Given the description of an element on the screen output the (x, y) to click on. 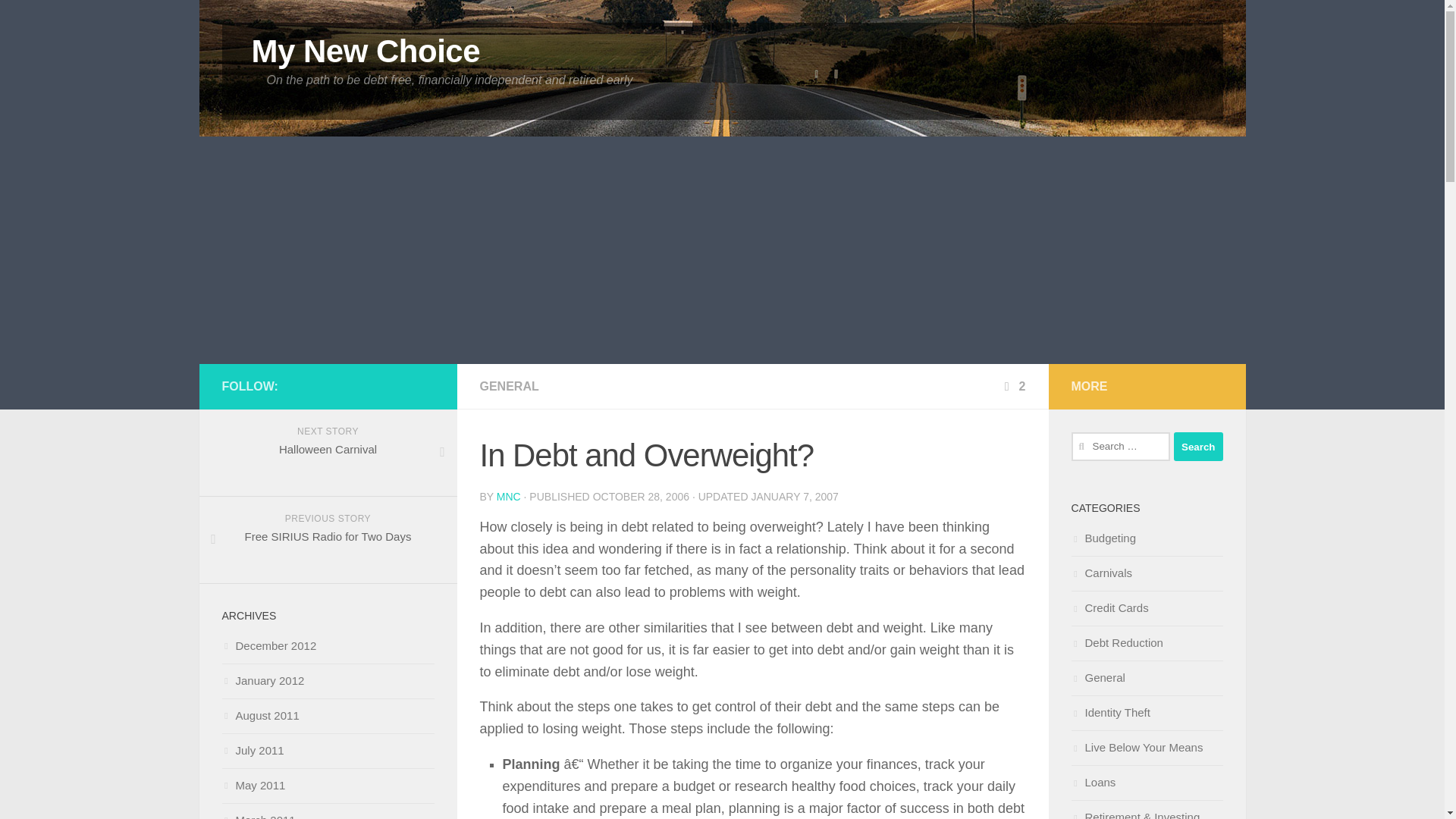
Skip to content (63, 20)
GENERAL (508, 386)
MNC (508, 496)
My New Choice (365, 51)
2 (1013, 386)
Search (1198, 446)
Posts by mnc (508, 496)
Search (1198, 446)
